Given the description of an element on the screen output the (x, y) to click on. 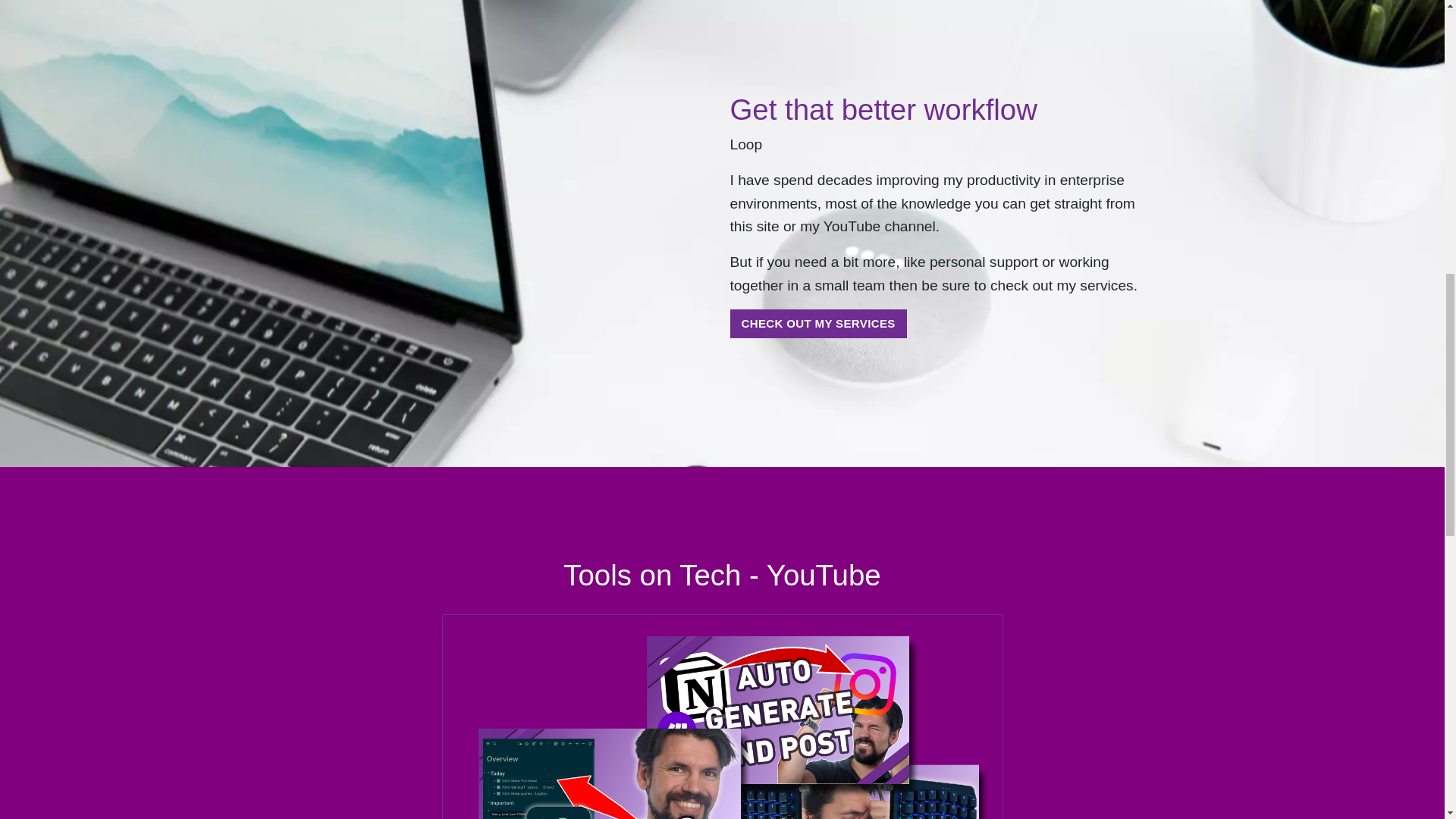
CHECK OUT MY SERVICES (817, 323)
